Given the description of an element on the screen output the (x, y) to click on. 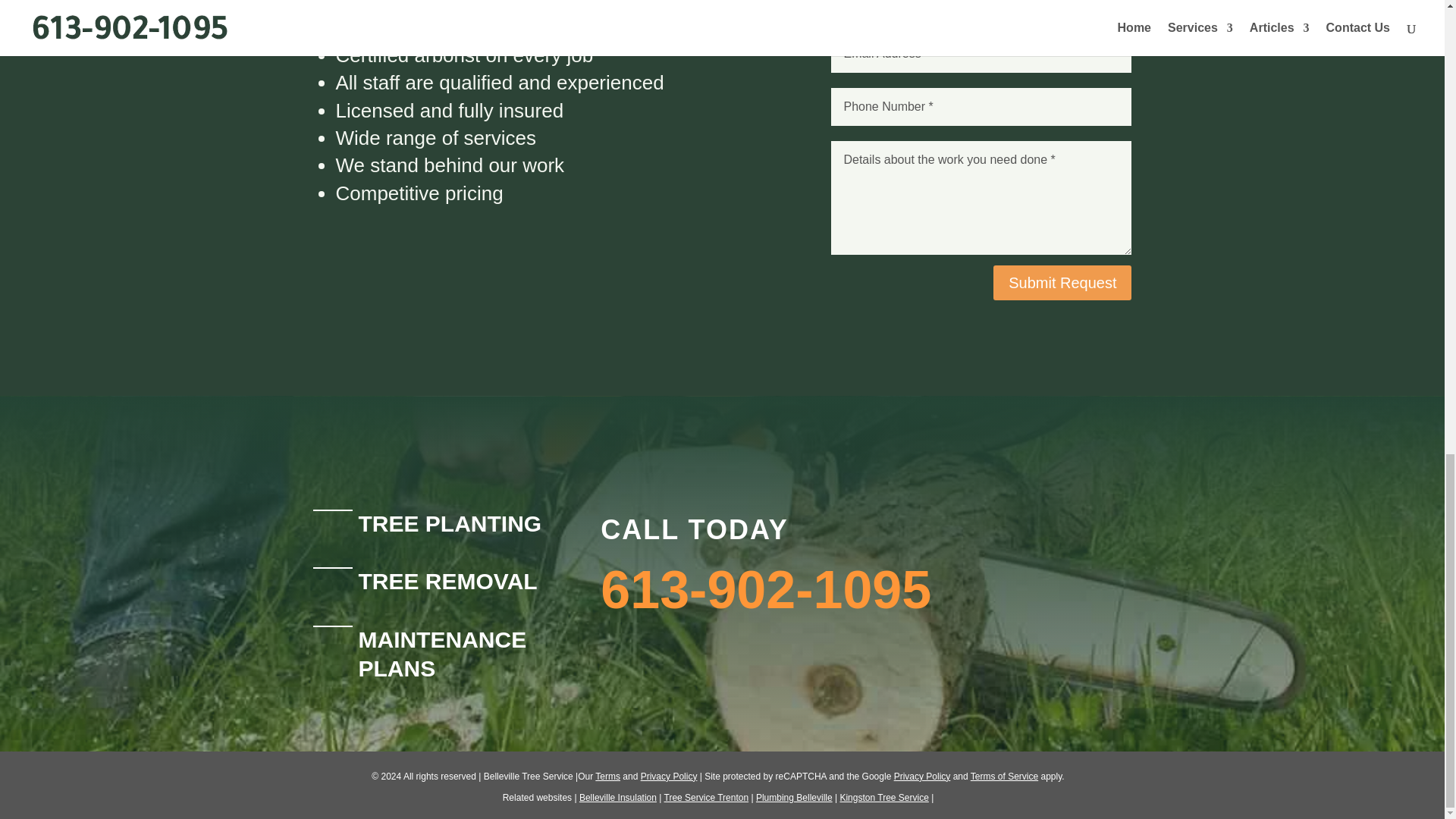
Privacy Policy (921, 776)
Terms (607, 776)
613-902-1095 (765, 589)
Privacy Policy (668, 776)
Submit Request (1061, 282)
